Given the description of an element on the screen output the (x, y) to click on. 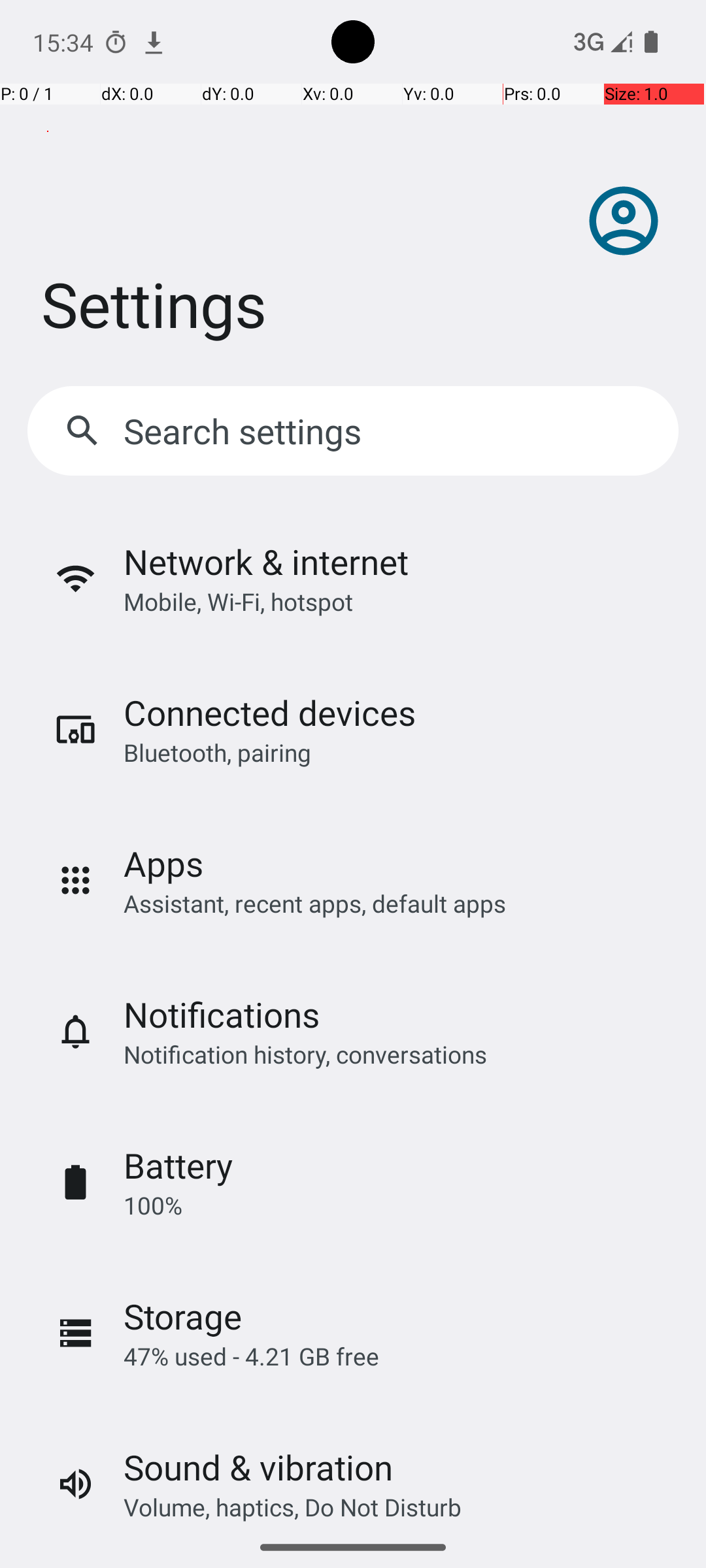
47% used - 4.21 GB free Element type: android.widget.TextView (251, 1355)
